Given the description of an element on the screen output the (x, y) to click on. 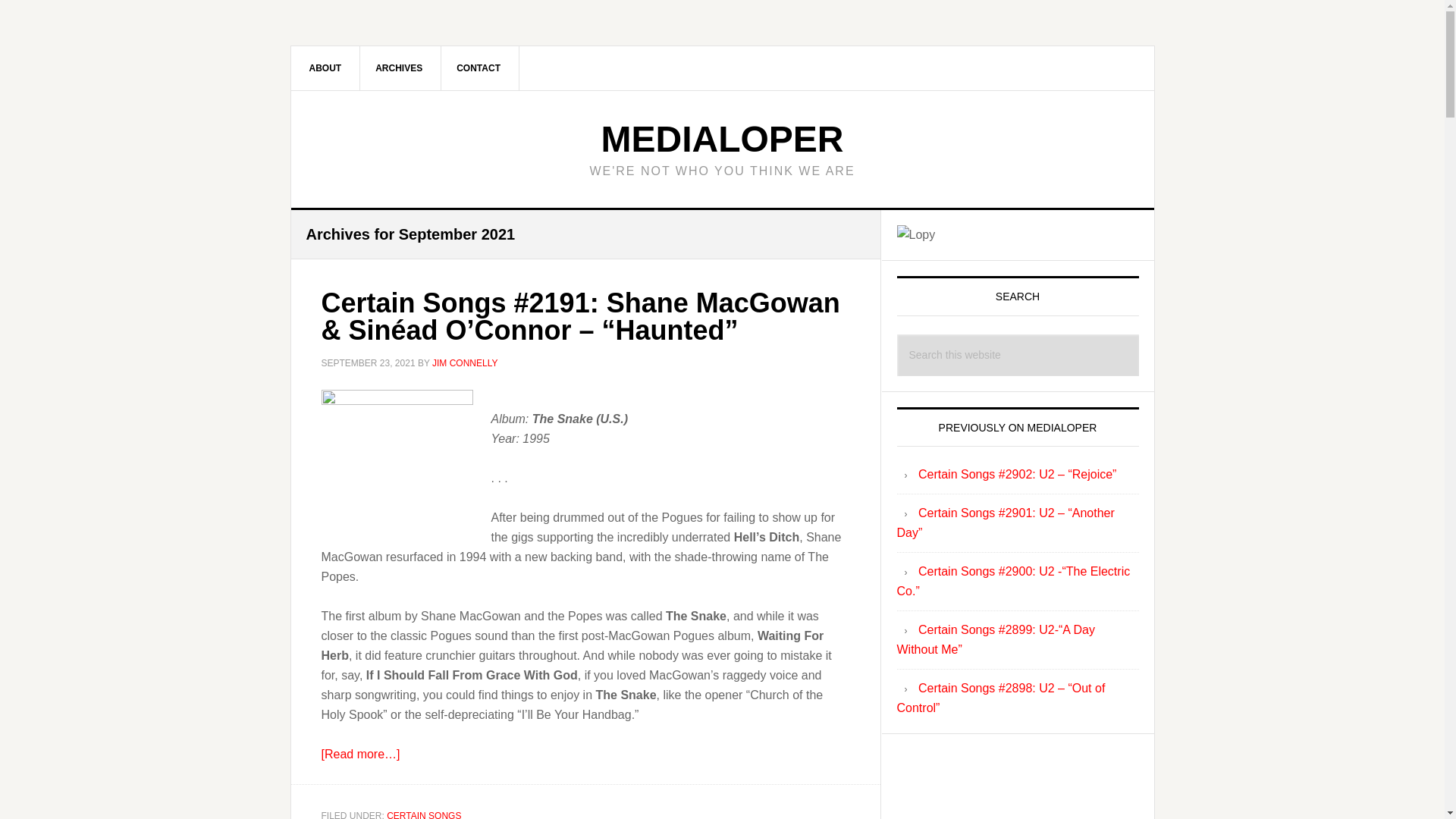
ABOUT (326, 67)
CERTAIN SONGS (424, 814)
MEDIALOPER (721, 138)
CONTACT (478, 67)
JIM CONNELLY (464, 362)
ARCHIVES (398, 67)
